Given the description of an element on the screen output the (x, y) to click on. 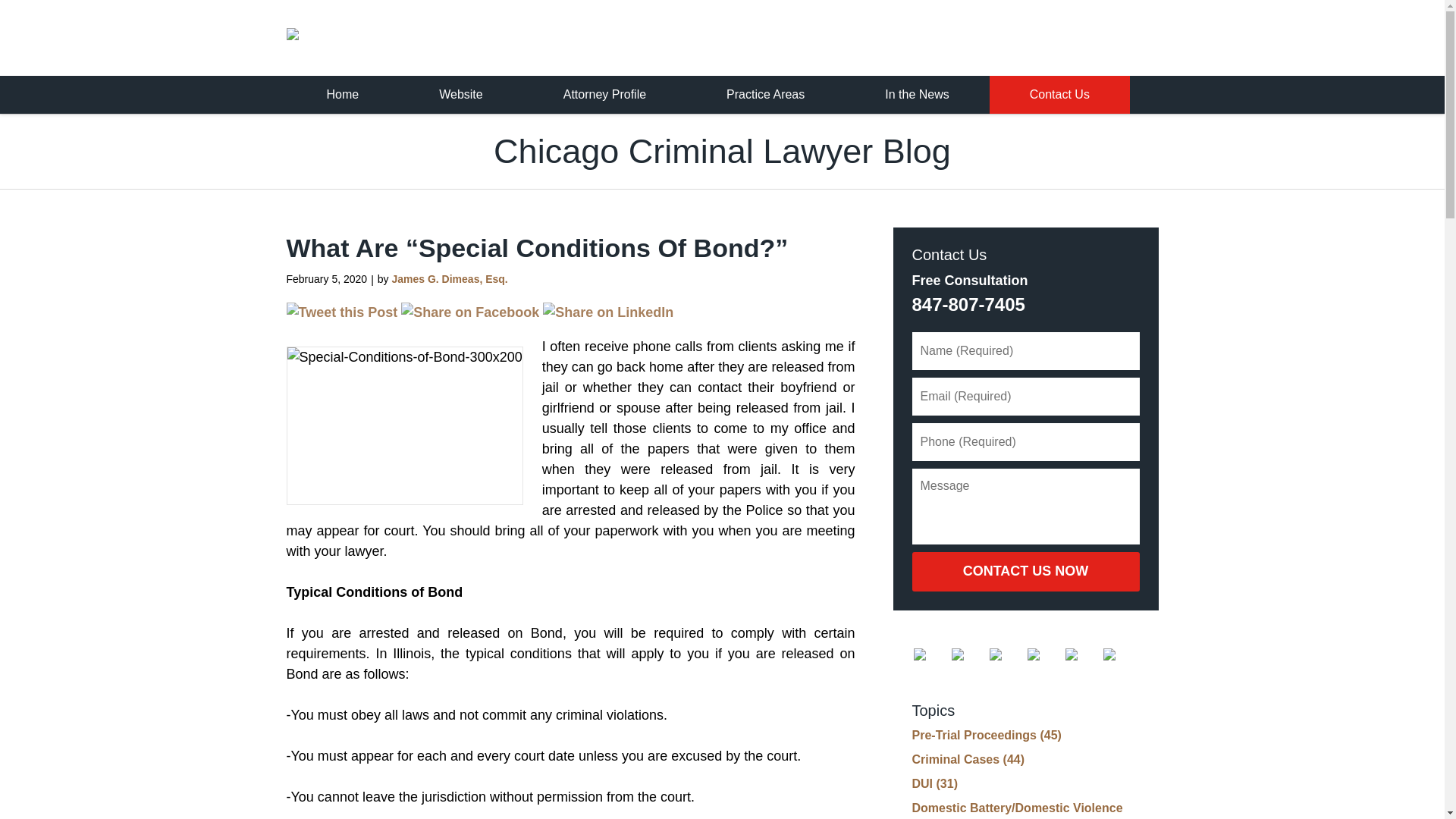
Home (342, 94)
Practice Areas (764, 94)
Facebook (930, 654)
Website (460, 94)
CONTACT US NOW (1024, 571)
Chicago Criminal Lawyer Blog (482, 37)
James G. Dimeas, Esq. (448, 278)
LinkedIn (1006, 654)
Feed (1120, 654)
Twitter (968, 654)
Contact Us (1059, 94)
Yelp (1082, 654)
In the News (916, 94)
Please enter a valid phone number. (1024, 442)
Justia (1044, 654)
